Given the description of an element on the screen output the (x, y) to click on. 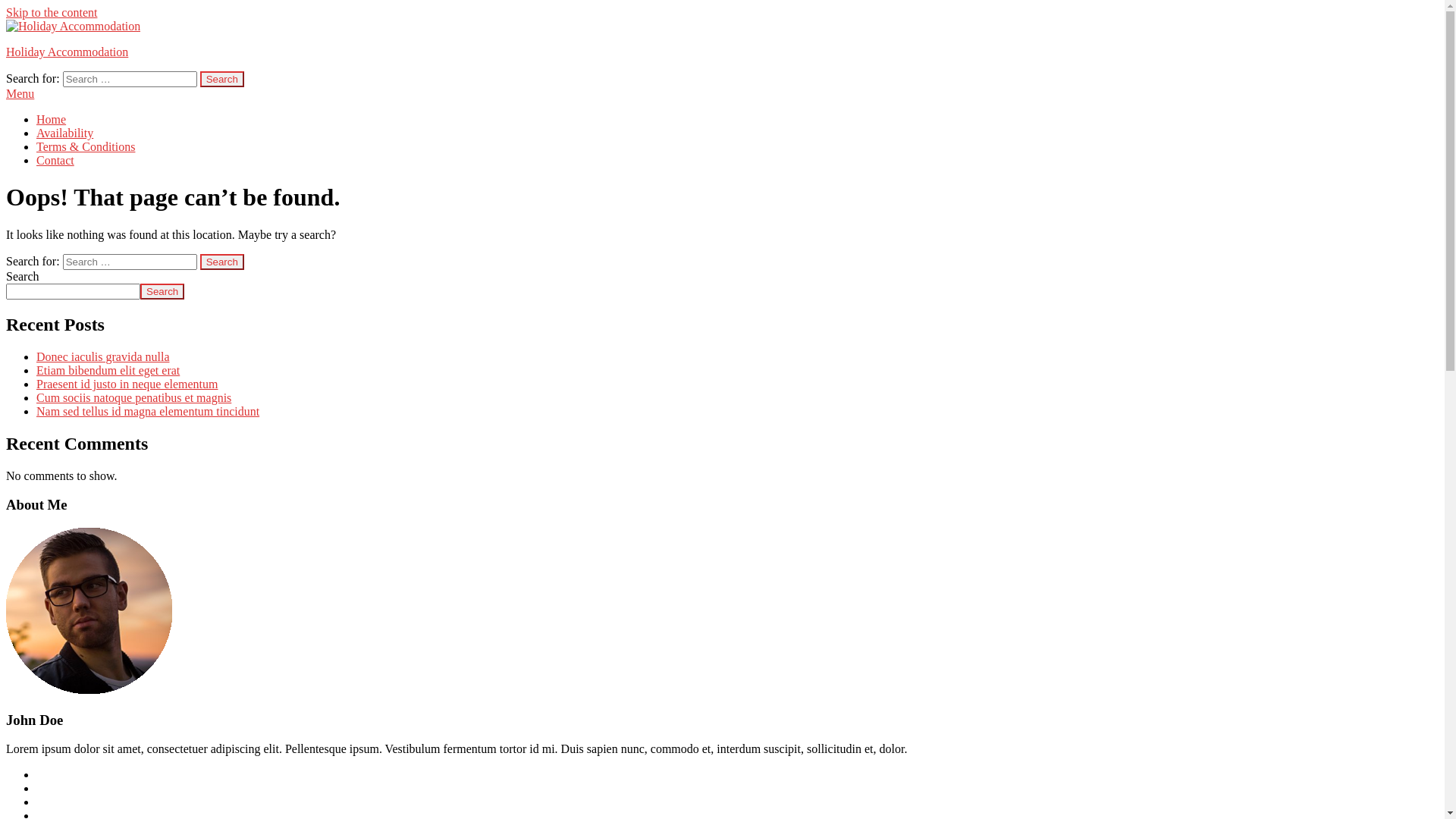
Contact Element type: text (55, 159)
Terms & Conditions Element type: text (85, 146)
Holiday Accommodation Element type: text (67, 51)
Search Element type: text (222, 261)
Cum sociis natoque penatibus et magnis Element type: text (133, 397)
Praesent id justo in neque elementum Element type: text (127, 383)
Menu Element type: text (722, 93)
Skip to the content Element type: text (51, 12)
Availability Element type: text (64, 132)
Search Element type: text (162, 291)
Etiam bibendum elit eget erat Element type: text (107, 370)
Search Element type: text (222, 79)
Nam sed tellus id magna elementum tincidunt Element type: text (147, 410)
Home Element type: text (50, 118)
Donec iaculis gravida nulla Element type: text (102, 356)
